Given the description of an element on the screen output the (x, y) to click on. 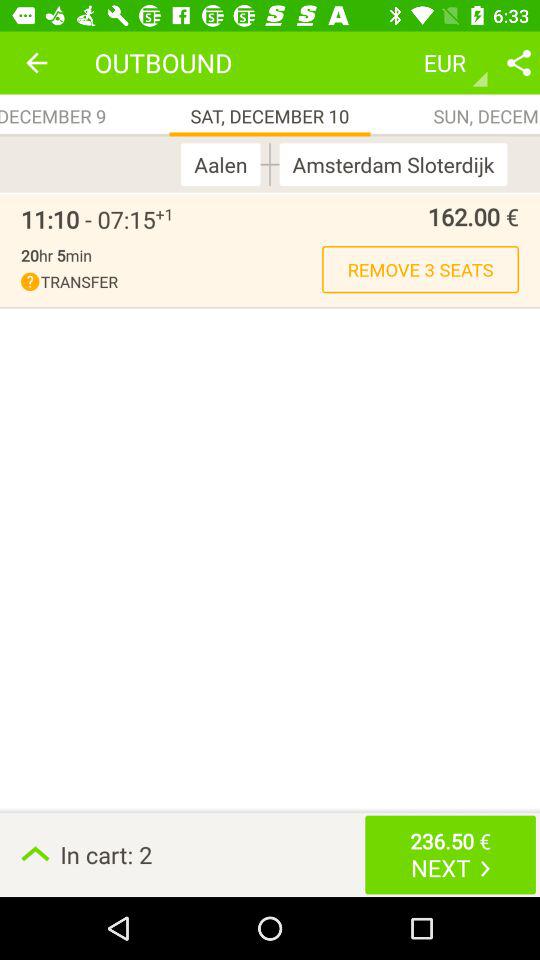
tap item next to amsterdam sloterdijk icon (269, 164)
